Given the description of an element on the screen output the (x, y) to click on. 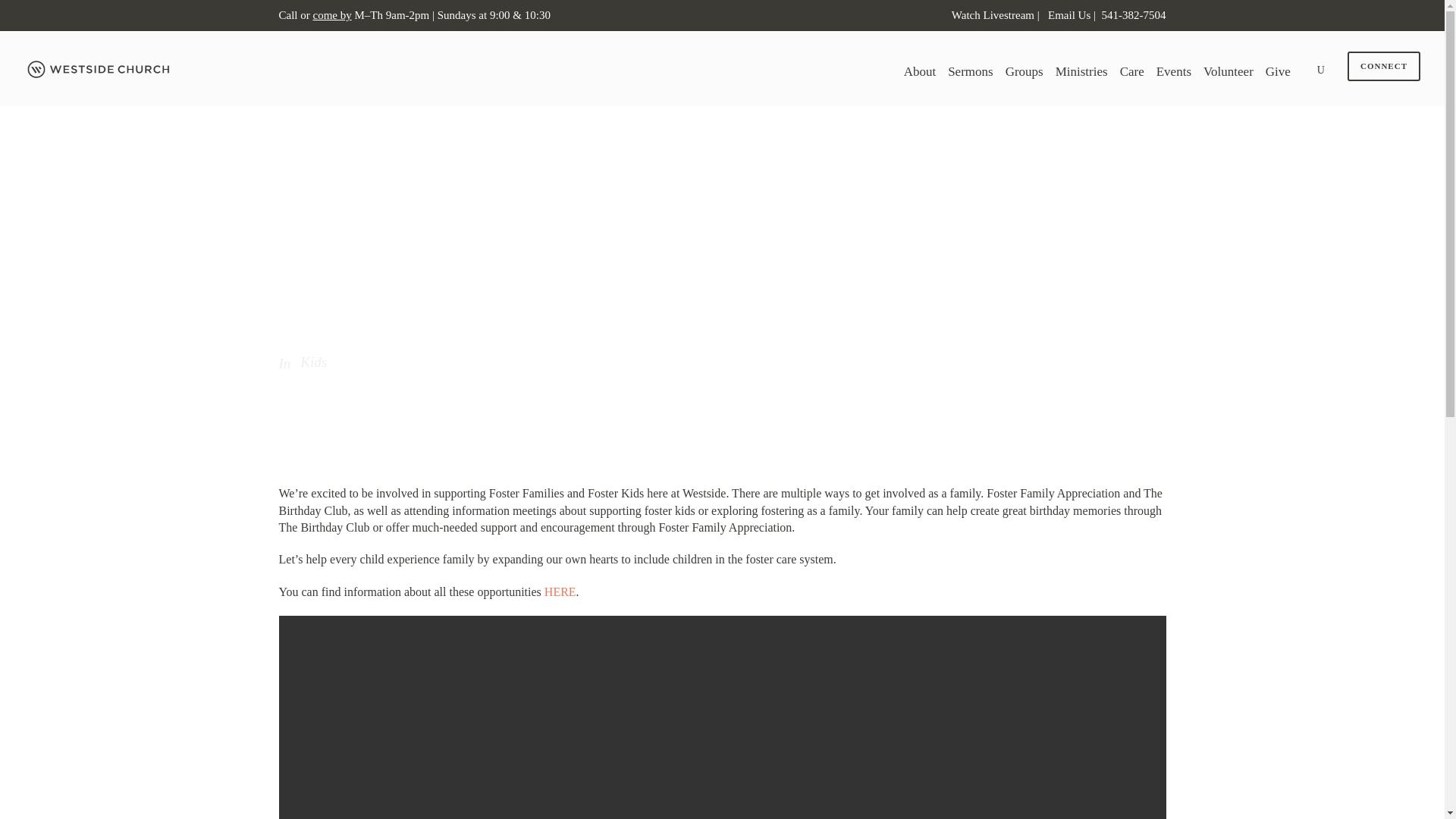
About (920, 75)
come by (331, 15)
Sundays (454, 15)
logo-westside-church-2020 (100, 69)
